Given the description of an element on the screen output the (x, y) to click on. 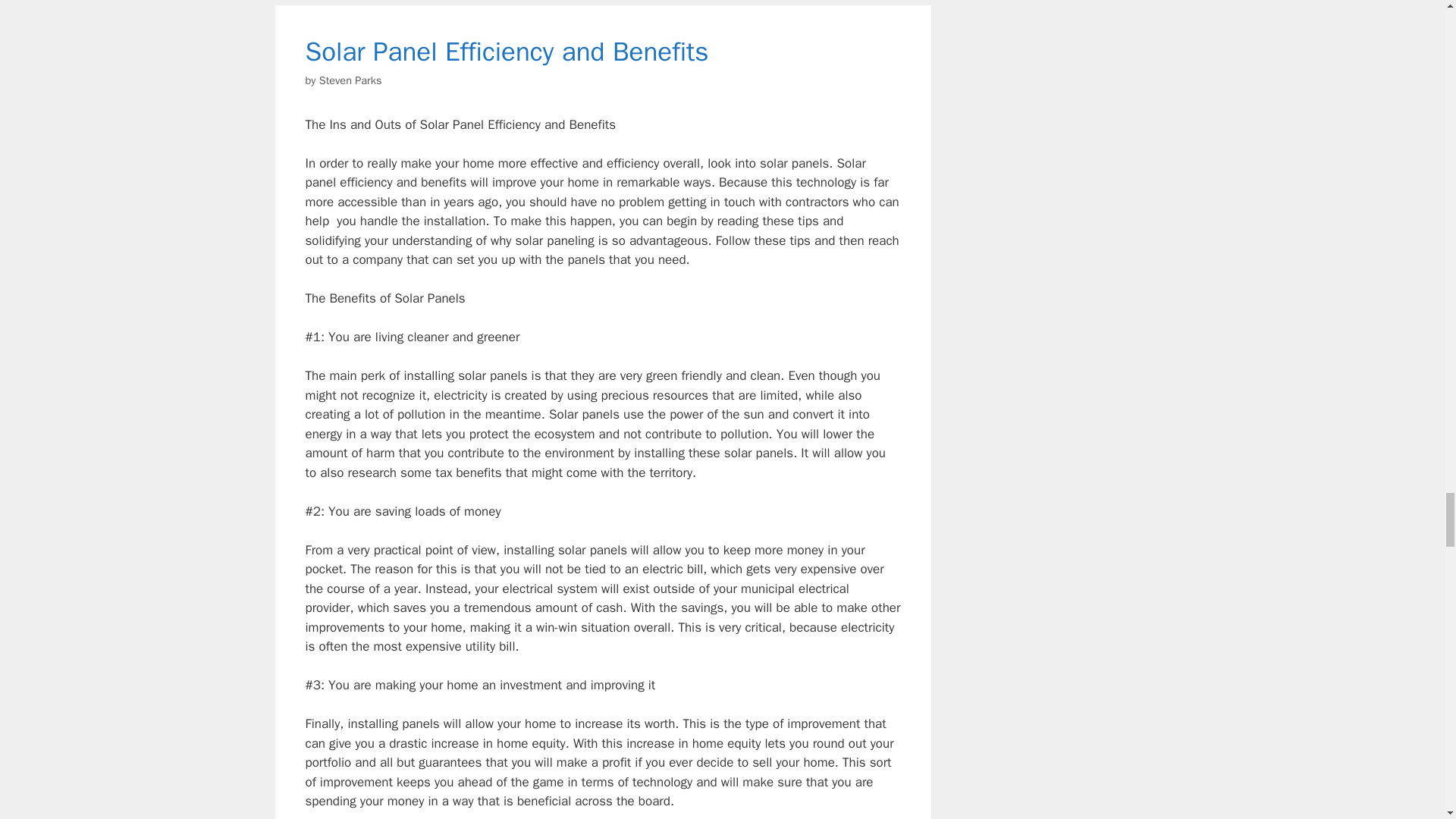
Steven Parks (349, 79)
View all posts by Steven Parks (349, 79)
Solar Panel Efficiency and Benefits (505, 51)
